Given the description of an element on the screen output the (x, y) to click on. 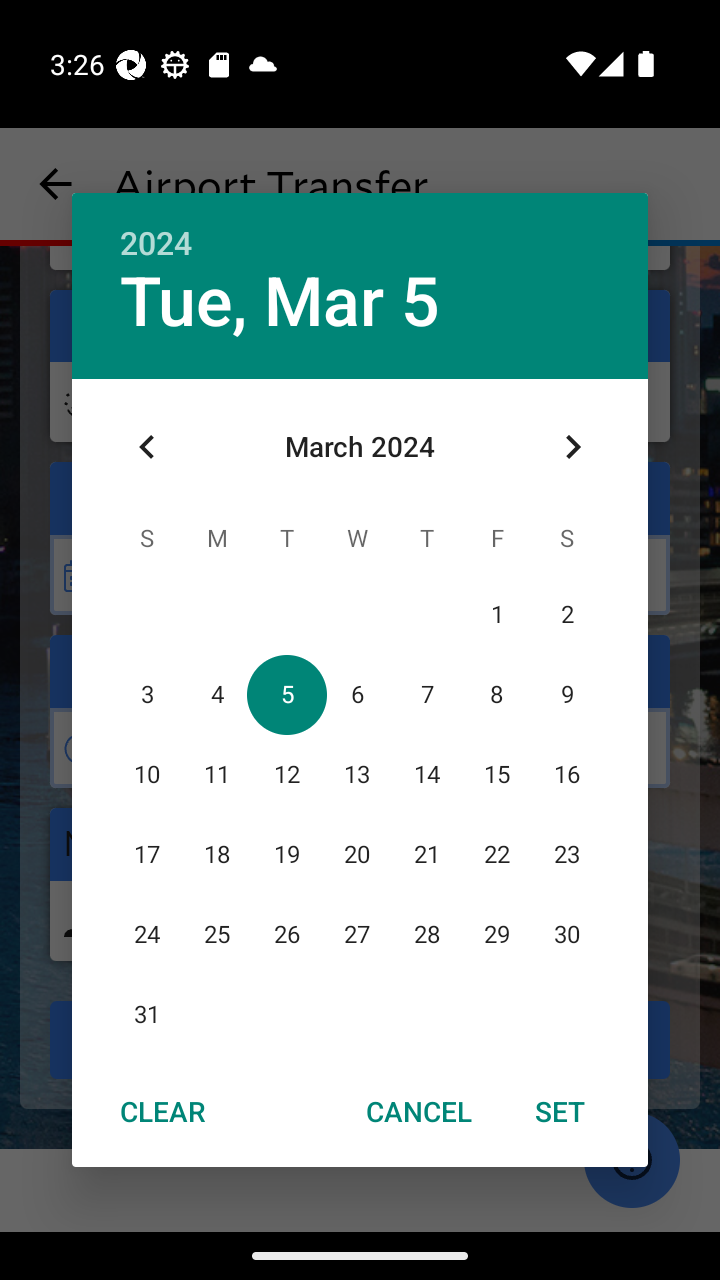
2024 (155, 243)
Tue, Mar 5 (280, 302)
Previous month (147, 447)
Next month (572, 447)
1 01 March 2024 (497, 614)
2 02 March 2024 (566, 614)
3 03 March 2024 (147, 694)
4 04 March 2024 (216, 694)
5 05 March 2024 (286, 694)
6 06 March 2024 (356, 694)
7 07 March 2024 (426, 694)
8 08 March 2024 (497, 694)
9 09 March 2024 (566, 694)
10 10 March 2024 (147, 774)
11 11 March 2024 (216, 774)
12 12 March 2024 (286, 774)
13 13 March 2024 (356, 774)
14 14 March 2024 (426, 774)
15 15 March 2024 (497, 774)
16 16 March 2024 (566, 774)
17 17 March 2024 (147, 854)
18 18 March 2024 (216, 854)
19 19 March 2024 (286, 854)
20 20 March 2024 (356, 854)
21 21 March 2024 (426, 854)
22 22 March 2024 (497, 854)
23 23 March 2024 (566, 854)
24 24 March 2024 (147, 934)
25 25 March 2024 (216, 934)
26 26 March 2024 (286, 934)
27 27 March 2024 (356, 934)
28 28 March 2024 (426, 934)
29 29 March 2024 (497, 934)
30 30 March 2024 (566, 934)
31 31 March 2024 (147, 1014)
CLEAR (162, 1110)
CANCEL (419, 1110)
SET (560, 1110)
